Given the description of an element on the screen output the (x, y) to click on. 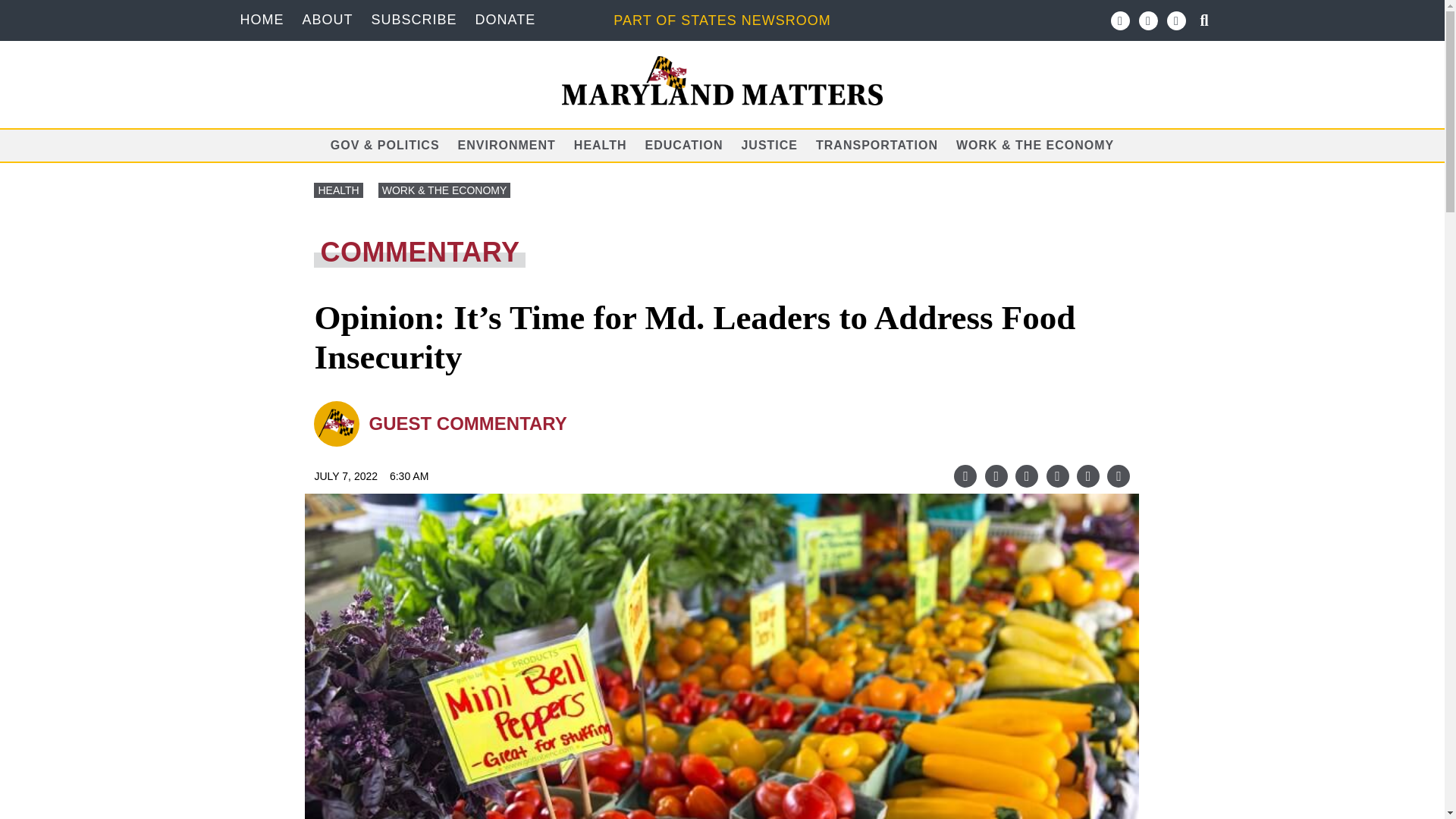
SUBSCRIBE (414, 19)
TRANSPORTATION (876, 144)
GUEST COMMENTARY (467, 423)
Maryland Matters (722, 80)
search (16, 9)
ABOUT (326, 19)
EDUCATION (684, 144)
DONATE (505, 19)
ENVIRONMENT (507, 144)
HEALTH (338, 190)
PART OF STATES NEWSROOM (720, 20)
JUSTICE (769, 144)
COMMENTARY (721, 252)
HOME (261, 19)
HEALTH (600, 144)
